Given the description of an element on the screen output the (x, y) to click on. 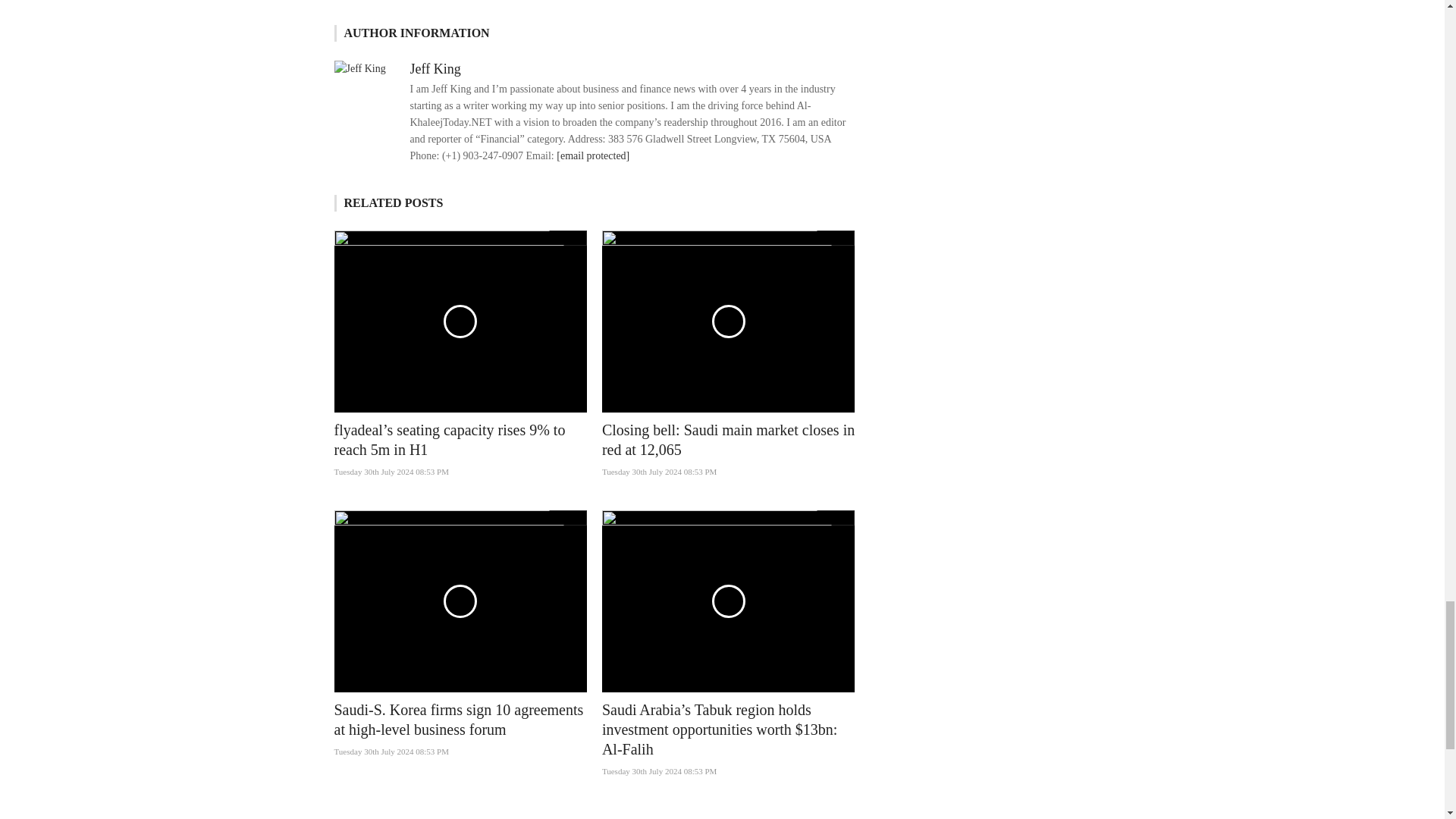
Closing bell: Saudi main market closes in red at 12,065 (728, 439)
Jeff King (434, 68)
